Given the description of an element on the screen output the (x, y) to click on. 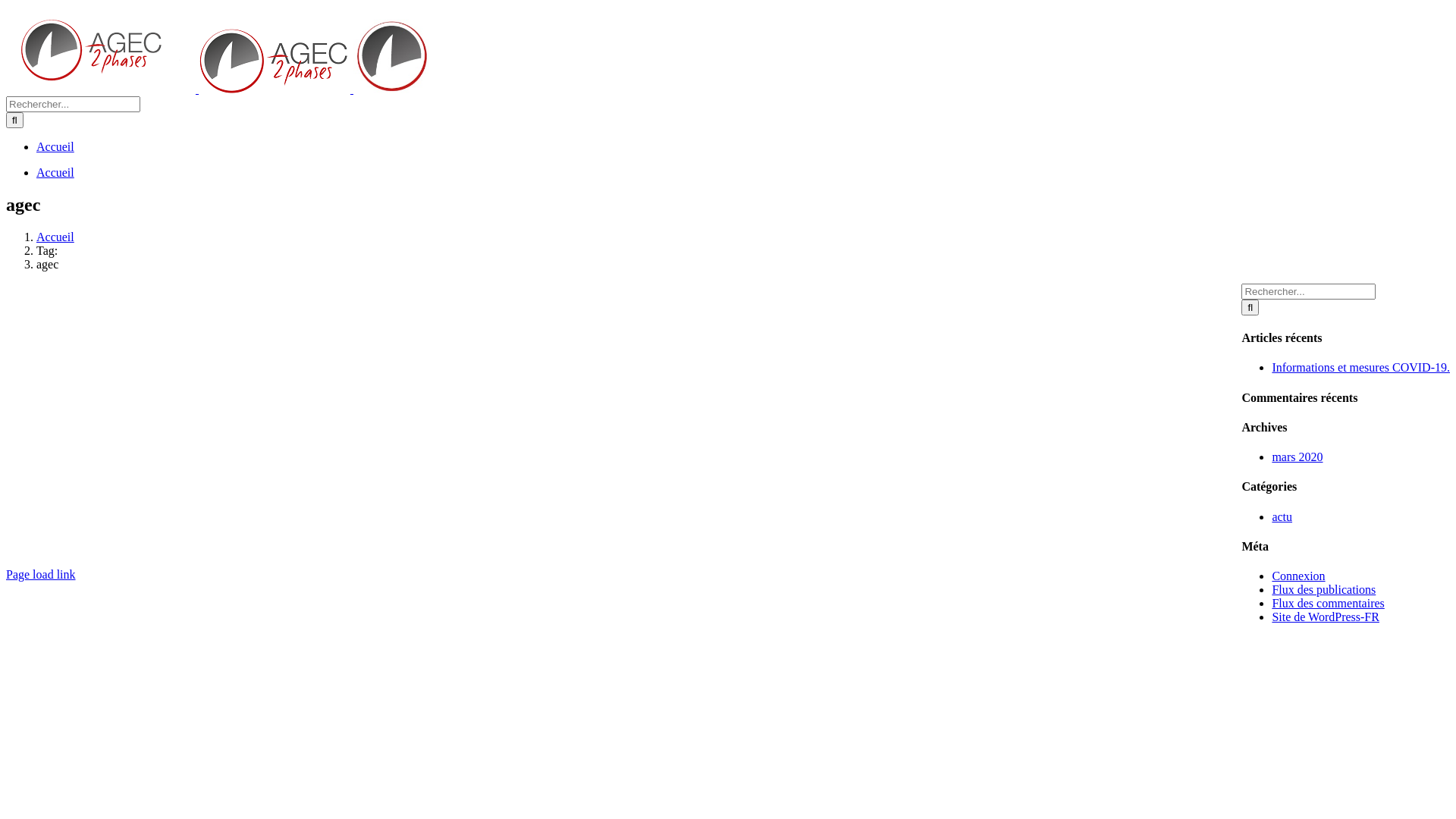
Accueil Element type: text (55, 172)
mars 2020 Element type: text (1296, 456)
Passer au contenu Element type: text (5, 5)
Accueil Element type: text (55, 146)
Informations et mesures COVID-19. Element type: text (1360, 366)
actu Element type: text (1281, 516)
Site de WordPress-FR Element type: text (1325, 616)
Page load link Element type: text (40, 573)
Accueil Element type: text (55, 236)
Connexion Element type: text (1297, 575)
Flux des commentaires Element type: text (1327, 602)
Flux des publications Element type: text (1323, 589)
